Given the description of an element on the screen output the (x, y) to click on. 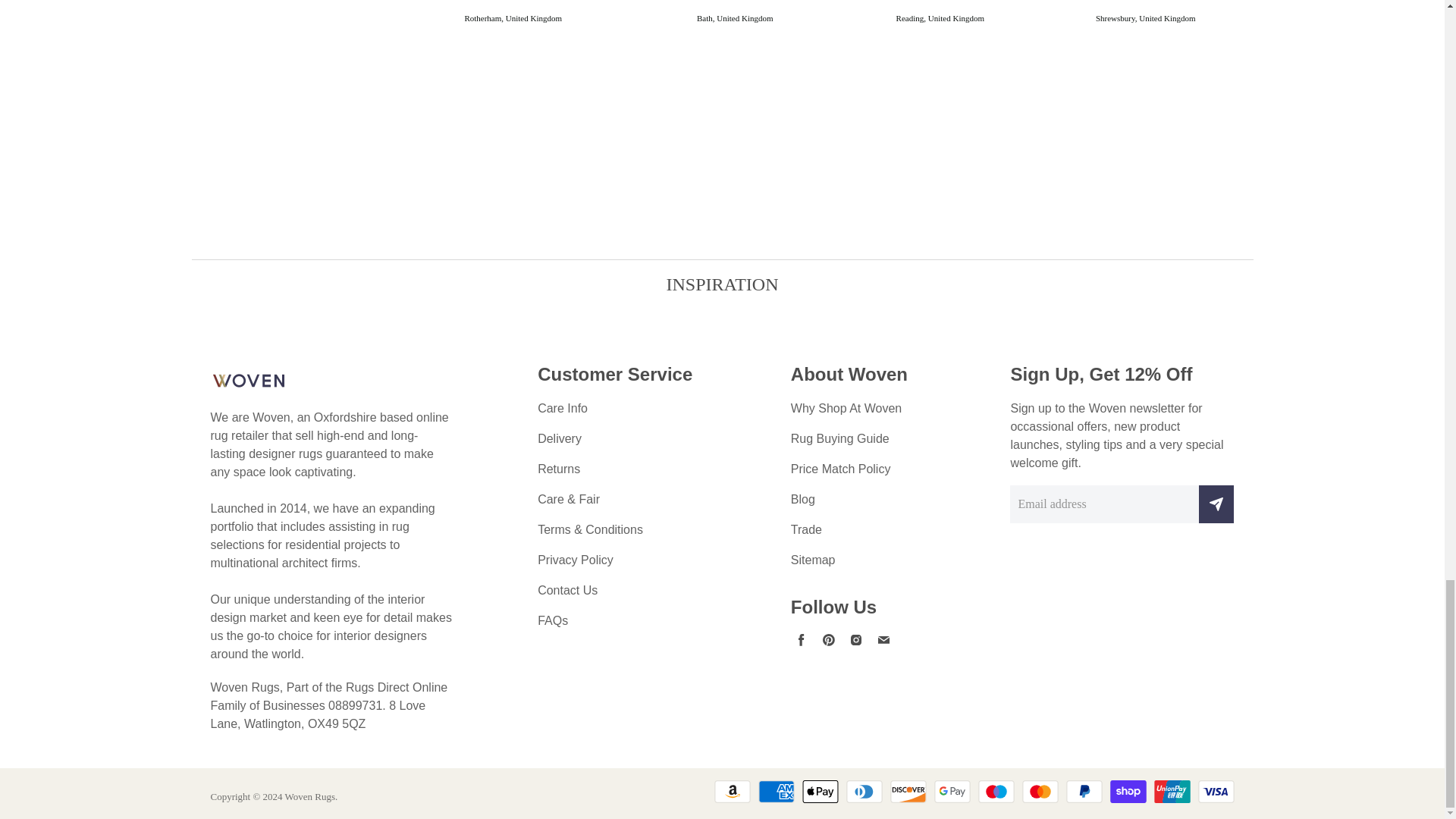
Apple Pay (820, 791)
American Express (776, 791)
Read more reviews on REVIEWS.io (271, 27)
Amazon (732, 791)
